Given the description of an element on the screen output the (x, y) to click on. 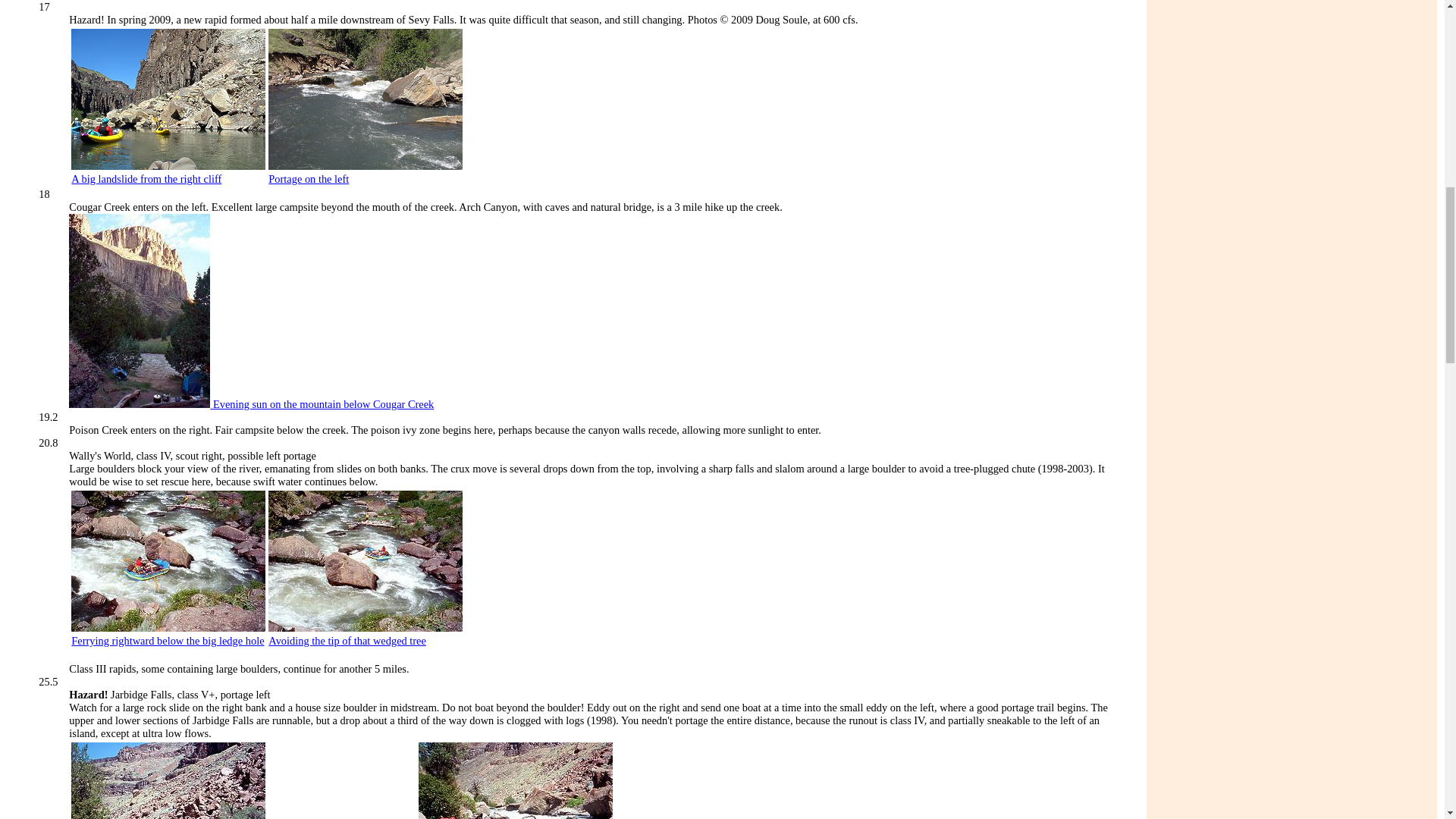
Evening sun on the mountain below Cougar Creek (250, 404)
Ferrying rightward below the big ledge hole (167, 640)
Avoiding the tip of that wedged tree (346, 640)
Portage on the left (308, 178)
A big landslide from the right cliff (146, 178)
